Given the description of an element on the screen output the (x, y) to click on. 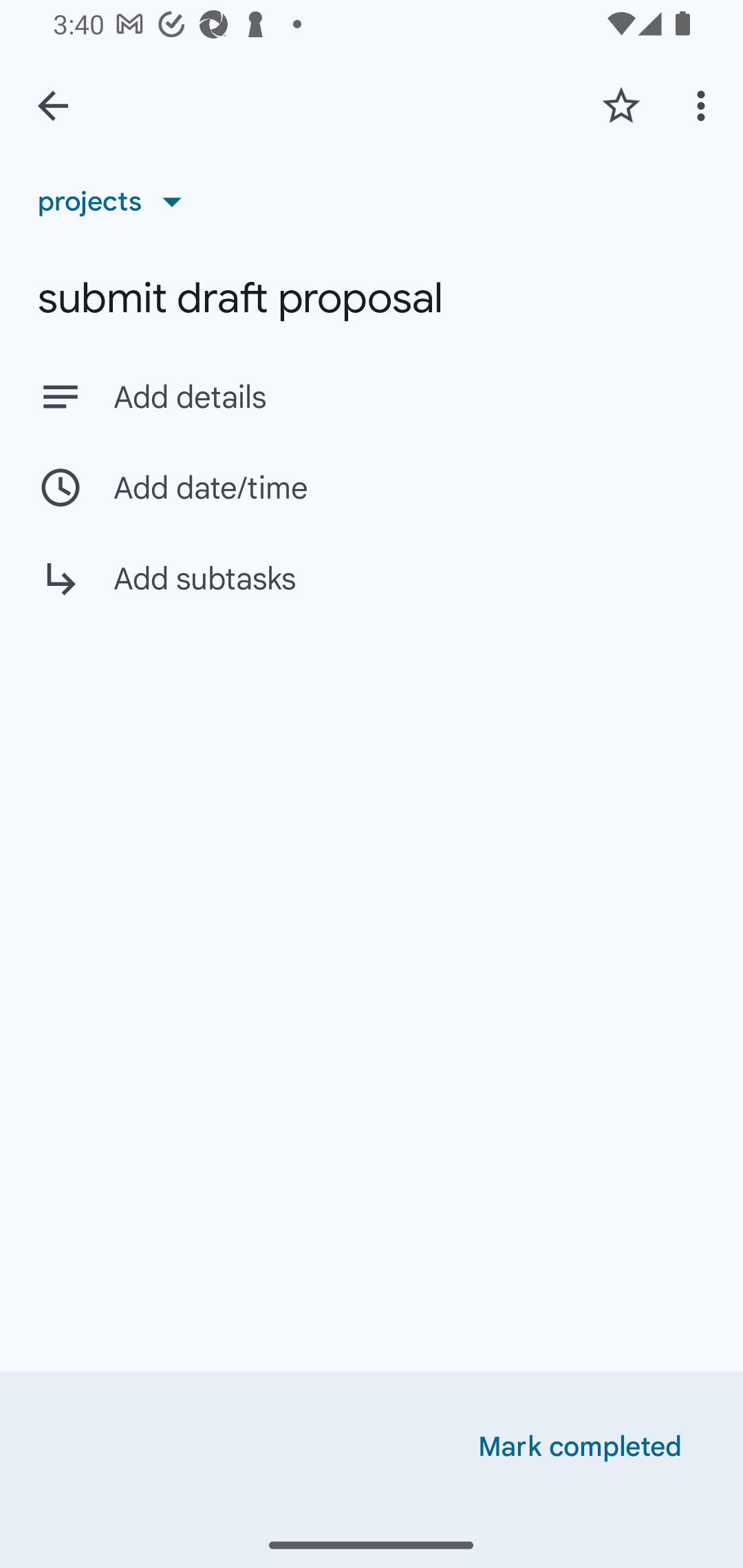
Back (53, 105)
Add star (620, 105)
More options (704, 105)
projects List, projects selected, 1 of 18 (115, 201)
submit draft proposal (371, 298)
Add details (371, 396)
Add details (409, 397)
Add date/time (371, 487)
Add subtasks (371, 593)
Mark completed (580, 1446)
